Given the description of an element on the screen output the (x, y) to click on. 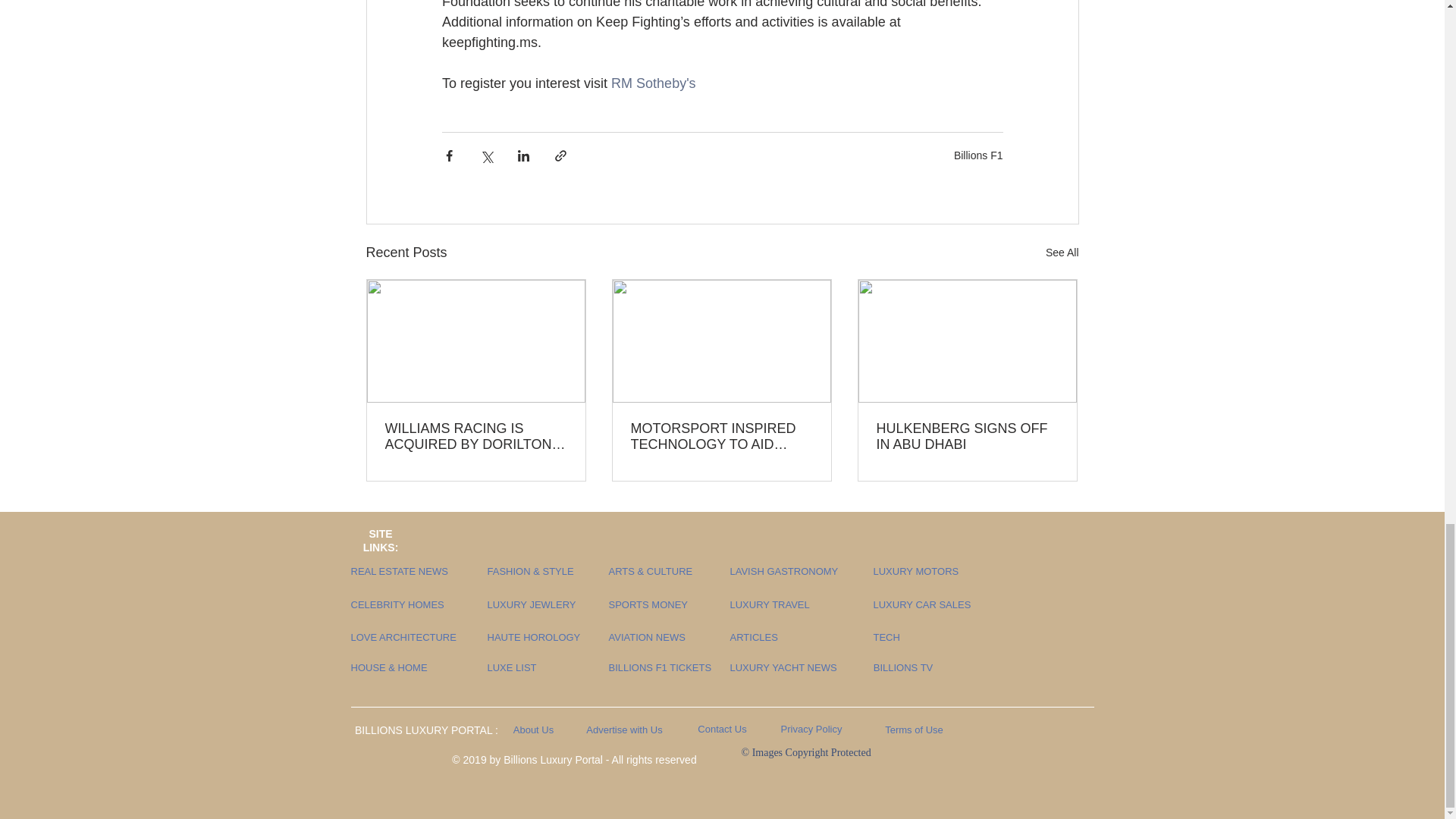
HULKENBERG SIGNS OFF IN ABU DHABI (967, 436)
See All (1061, 252)
Billions F1 (978, 155)
WILLIAMS RACING IS ACQUIRED BY DORILTON CAPITAL (476, 436)
RM Sotheby's  (654, 83)
